Given the description of an element on the screen output the (x, y) to click on. 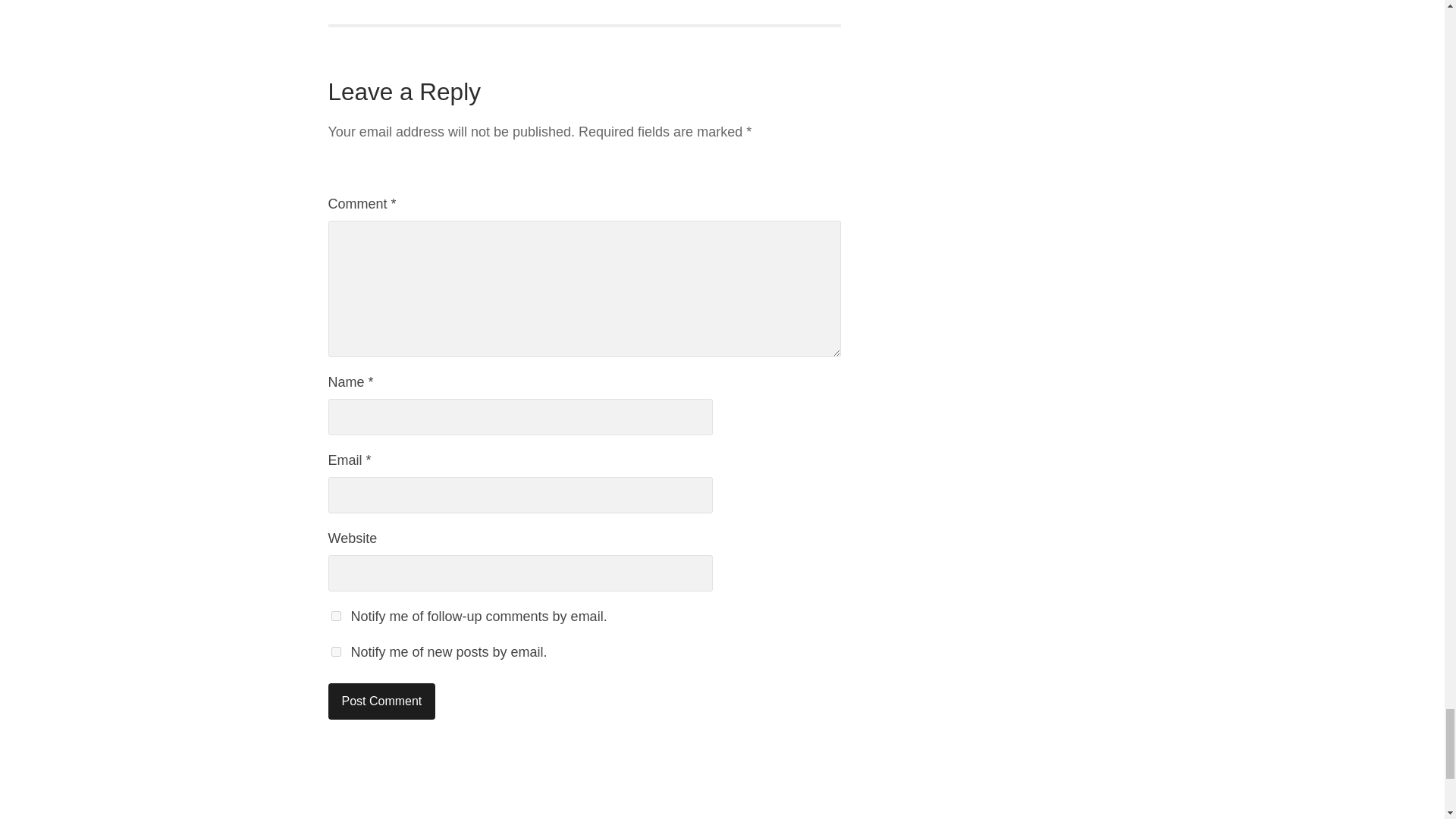
Post Comment (381, 701)
subscribe (335, 615)
subscribe (335, 651)
